Given the description of an element on the screen output the (x, y) to click on. 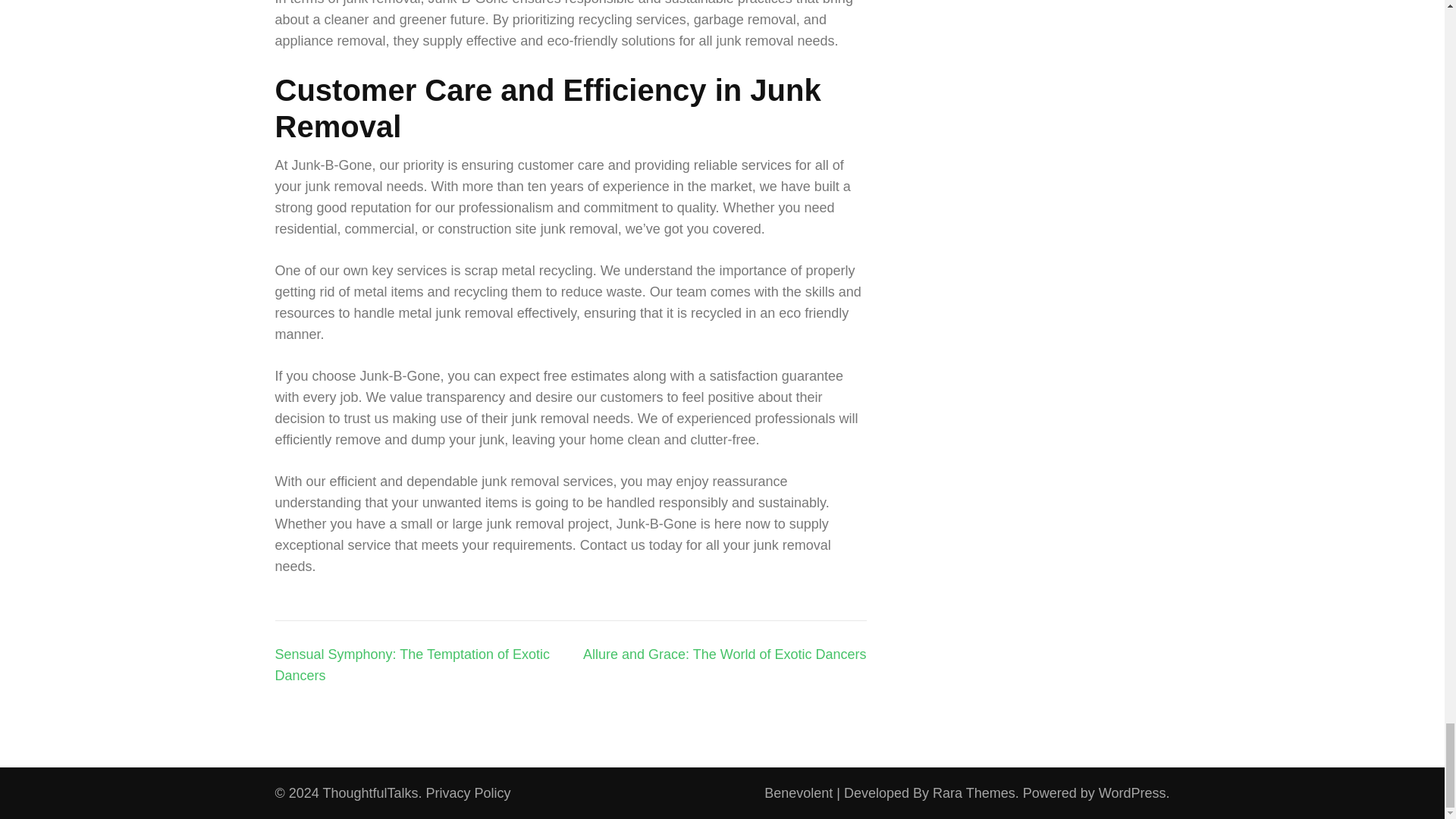
Sensual Symphony: The Temptation of Exotic Dancers (412, 665)
Allure and Grace: The World of Exotic Dancers (724, 654)
